Given the description of an element on the screen output the (x, y) to click on. 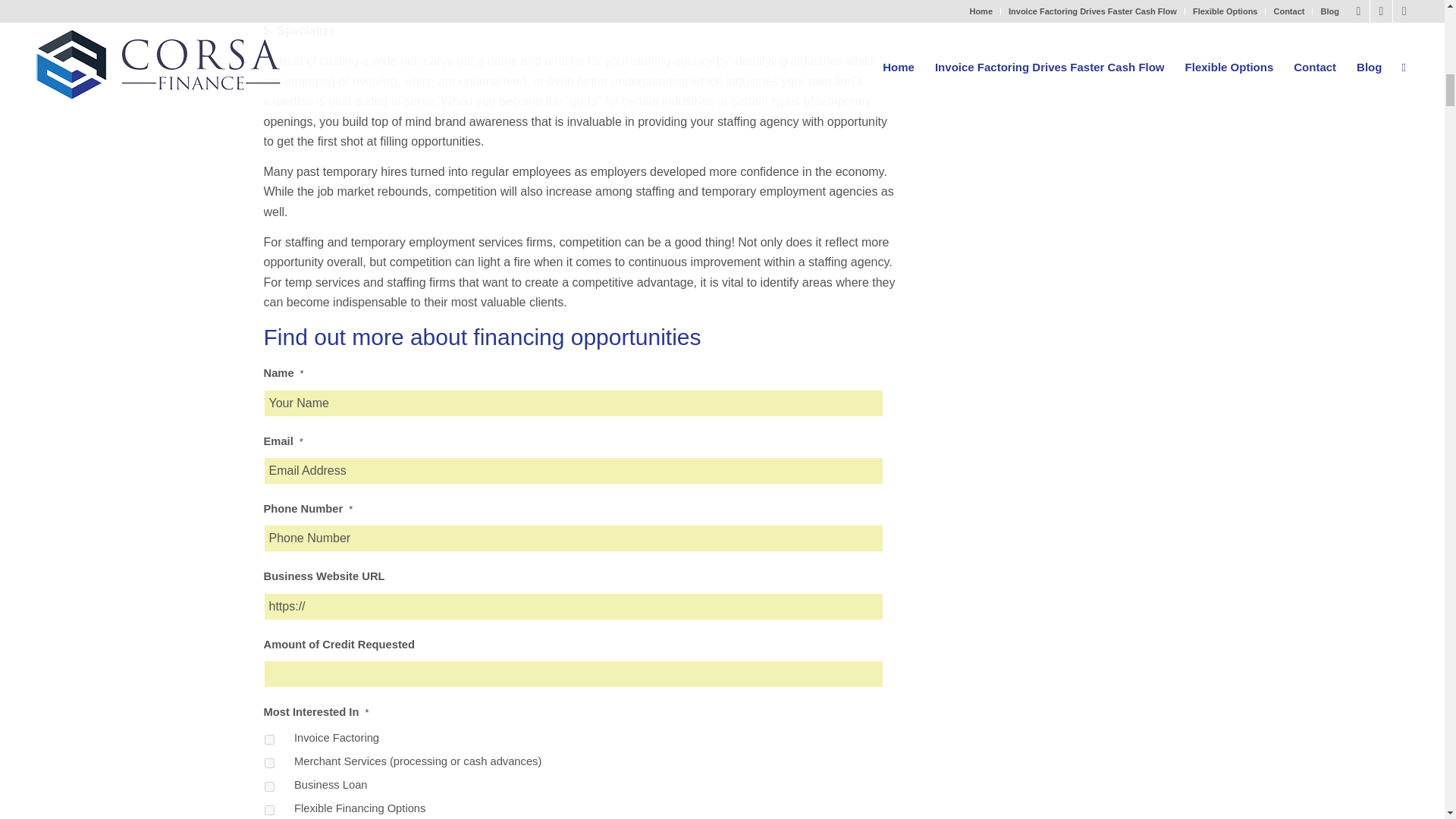
Flexible Financing Options (268, 809)
Invoice Factoring (268, 739)
Business Loan (268, 786)
